Given the description of an element on the screen output the (x, y) to click on. 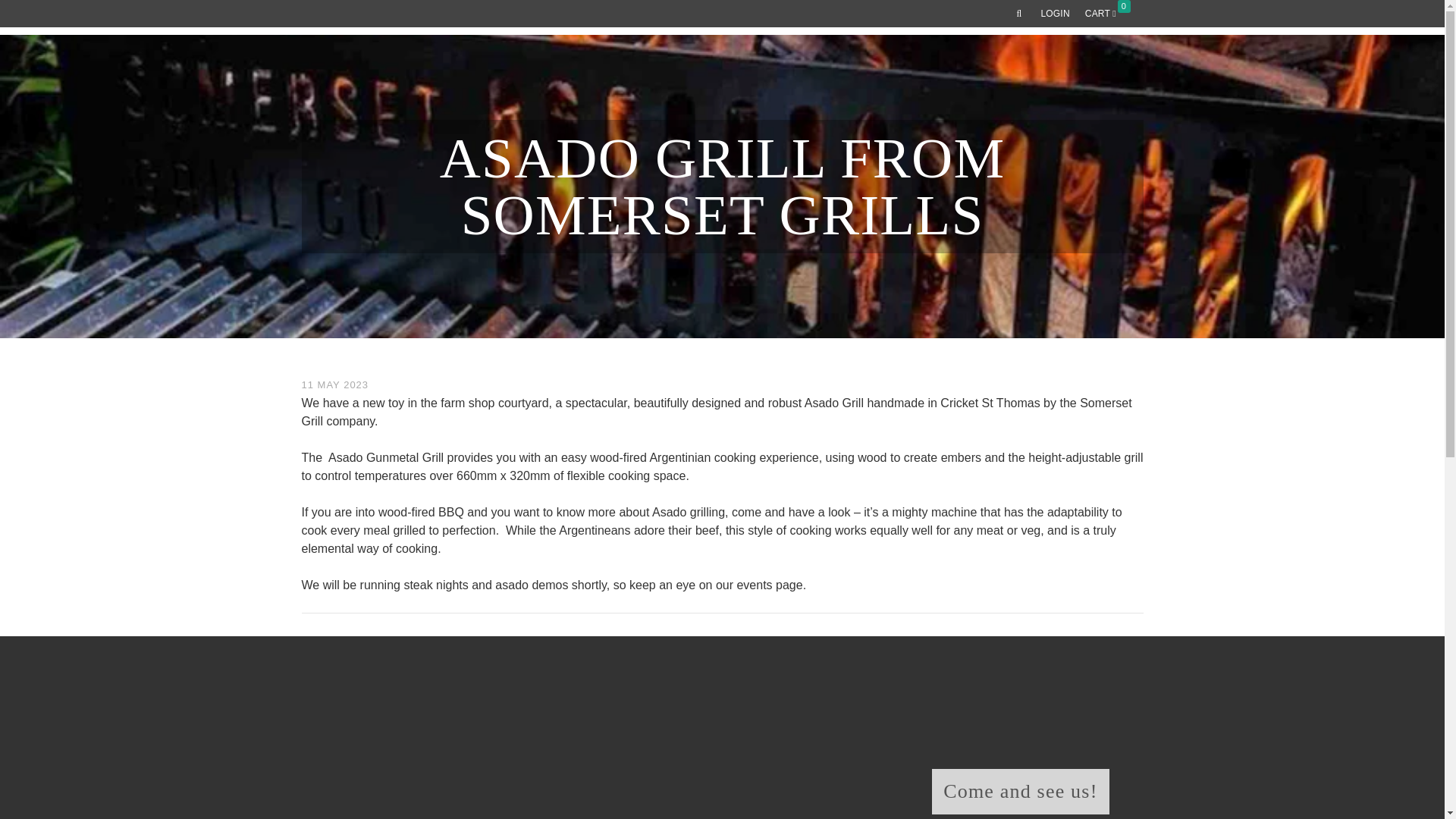
BLOG (1054, 68)
SHOP ONLINE (772, 68)
CART 0 (1109, 13)
THE FARM SHOP (673, 68)
CONTACT (1109, 68)
LOGIN (1054, 13)
BIG GREEN EGG (863, 68)
HOME (593, 68)
